Given the description of an element on the screen output the (x, y) to click on. 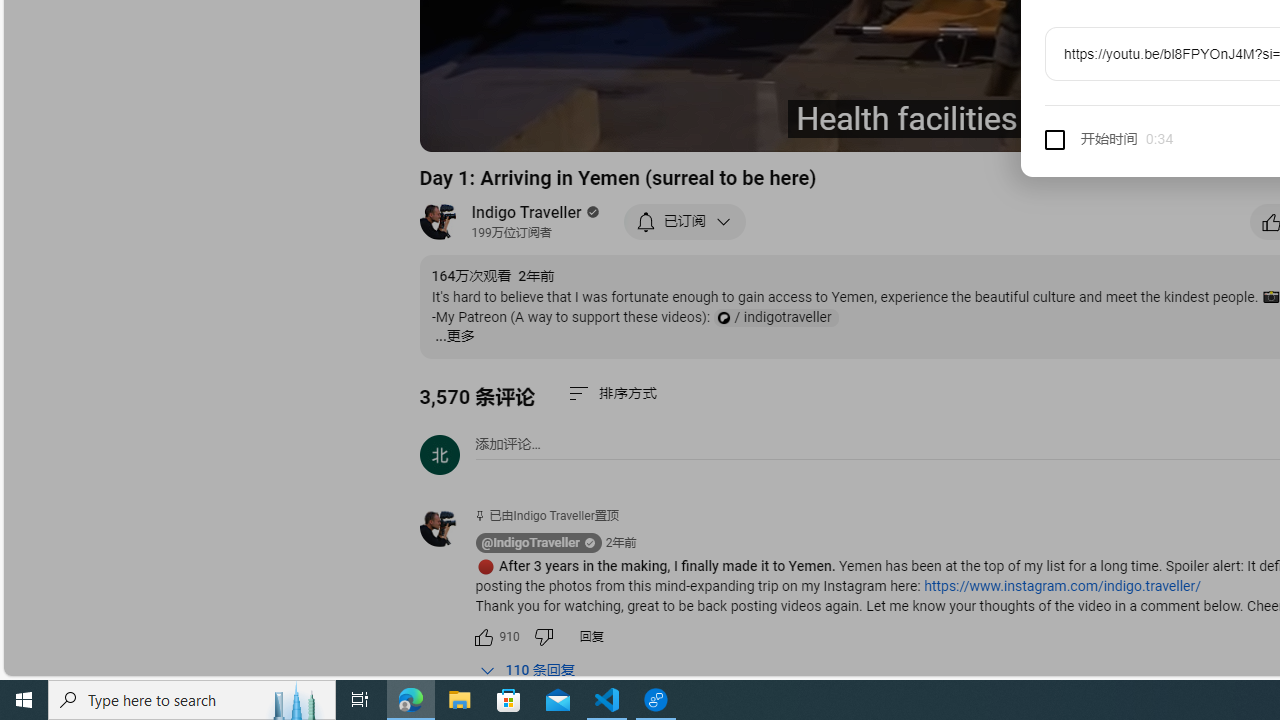
Patreon Channel Link: indigotraveller (775, 318)
@IndigoTraveller (447, 528)
@IndigoTraveller (530, 543)
https://www.instagram.com/indigo.traveller/ (1062, 586)
Intro (683, 127)
Class: style-scope tp-yt-paper-input (1170, 139)
